Given the description of an element on the screen output the (x, y) to click on. 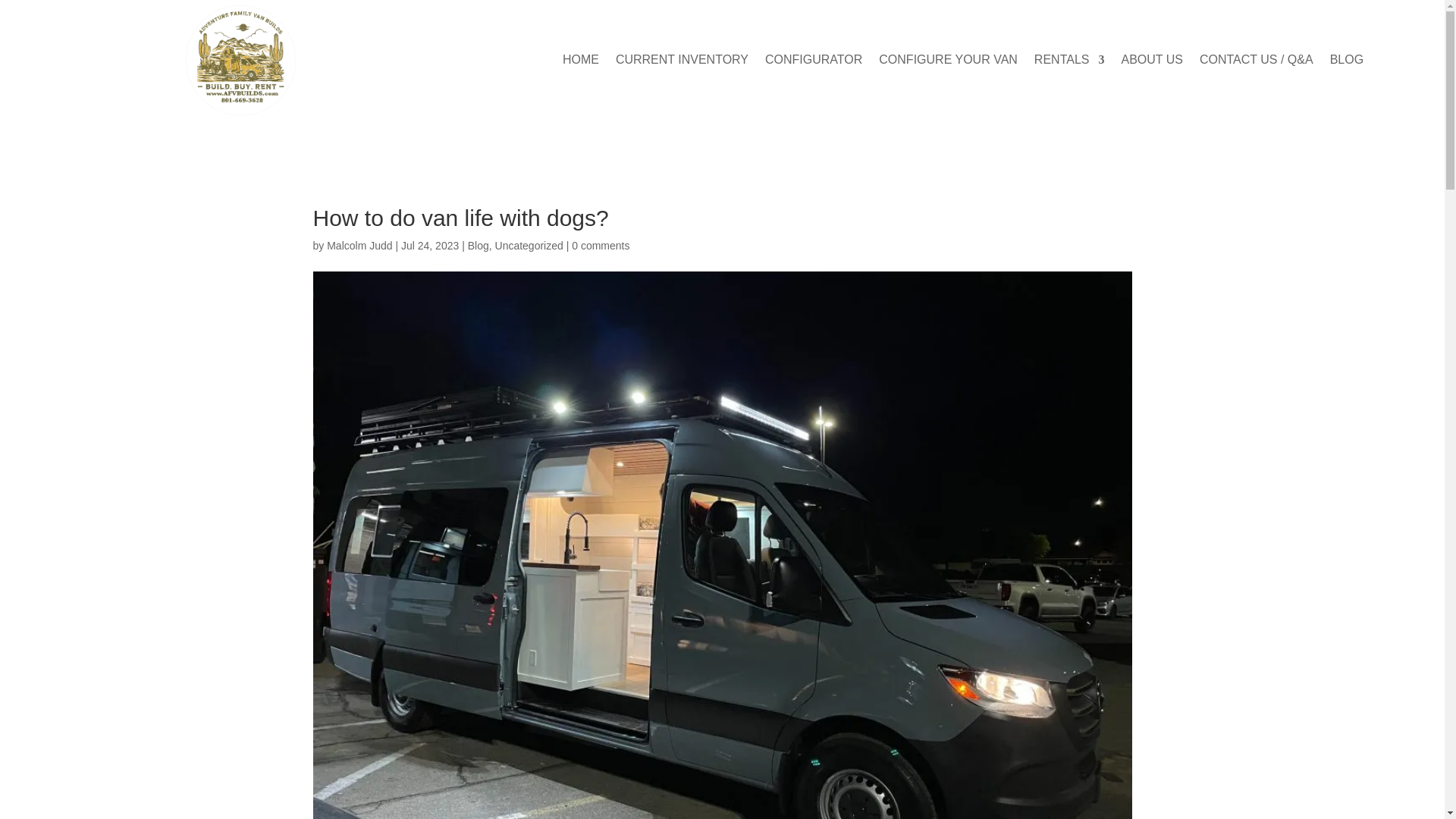
Posts by Malcolm Judd (358, 245)
CONFIGURATOR (813, 62)
0 comments (600, 245)
HOME (580, 62)
LiveChat chat widget (32, 787)
Blog (478, 245)
Malcolm Judd (358, 245)
CURRENT INVENTORY (681, 62)
CONFIGURE YOUR VAN (948, 62)
RENTALS (1069, 62)
AFV LOGO (240, 60)
BLOG (1346, 62)
Uncategorized (529, 245)
ABOUT US (1151, 62)
